Given the description of an element on the screen output the (x, y) to click on. 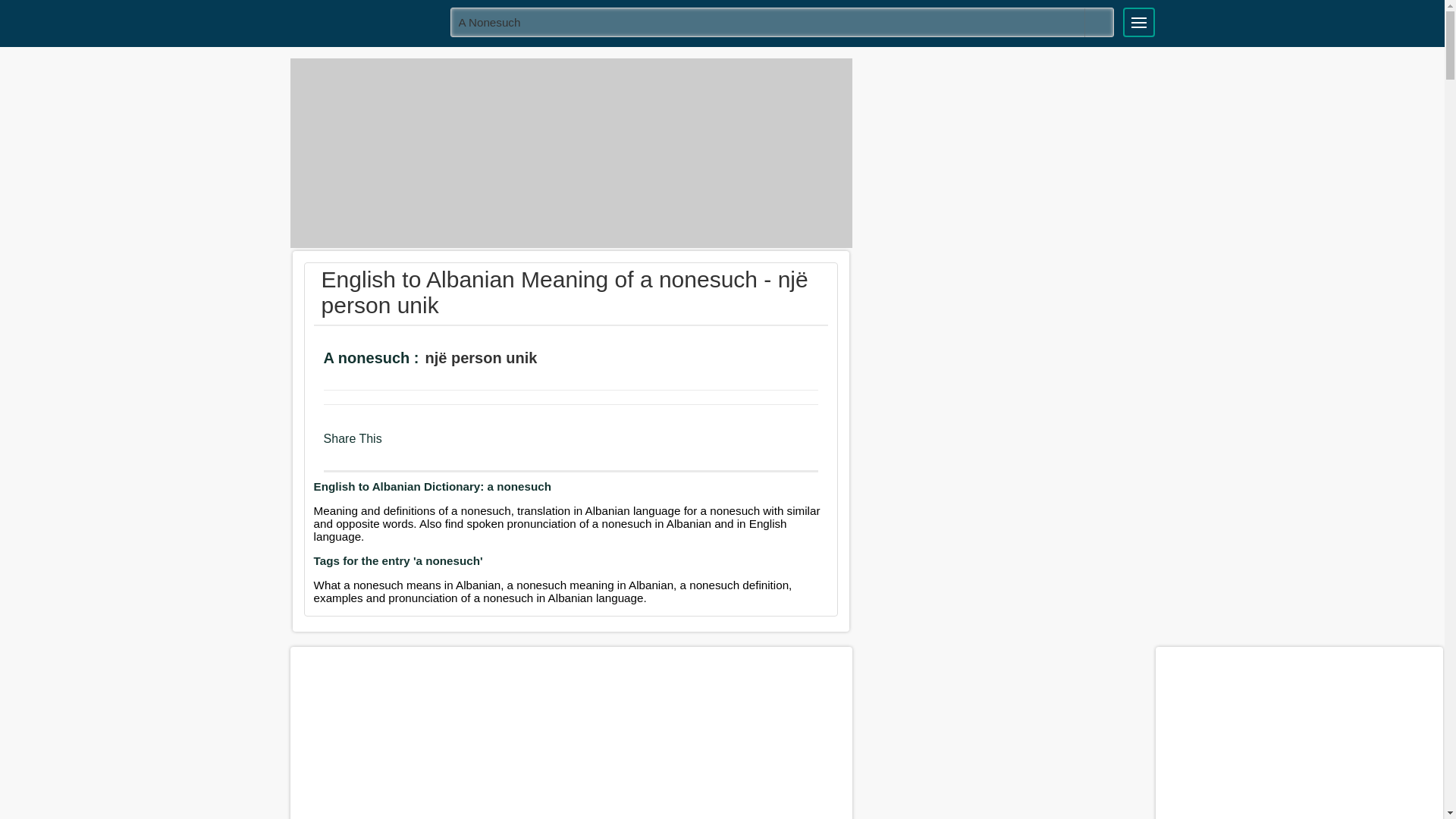
Twitter (428, 445)
Search (1098, 22)
Add To Favorites (604, 360)
Facebook (398, 445)
a nonesuch (782, 21)
More Share (485, 445)
ALBANIAN (365, 20)
Say The Word (561, 360)
Linkedin (458, 445)
